Given the description of an element on the screen output the (x, y) to click on. 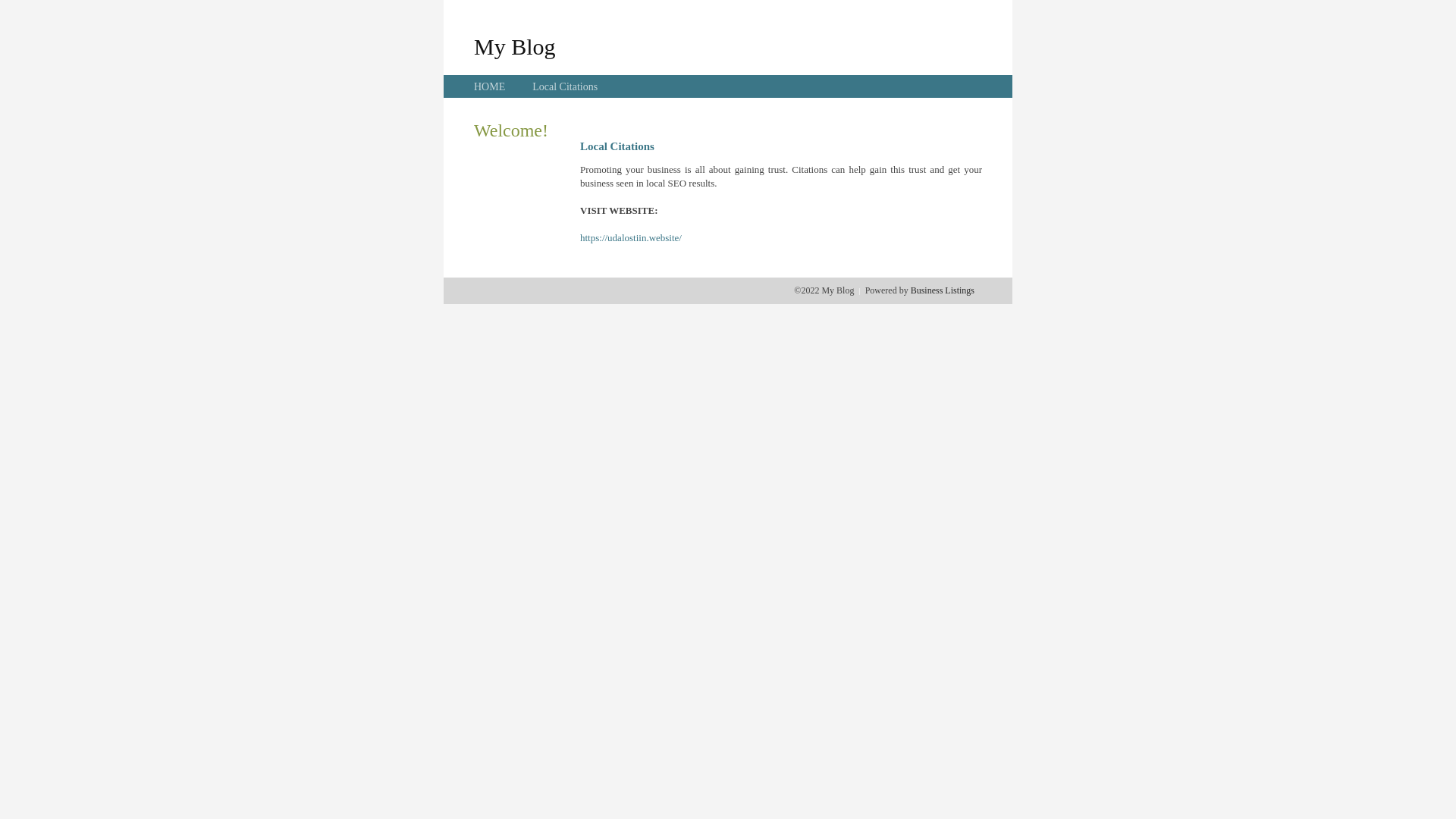
HOME Element type: text (489, 86)
https://udalostiin.website/ Element type: text (630, 237)
My Blog Element type: text (514, 46)
Business Listings Element type: text (942, 290)
Local Citations Element type: text (564, 86)
